Given the description of an element on the screen output the (x, y) to click on. 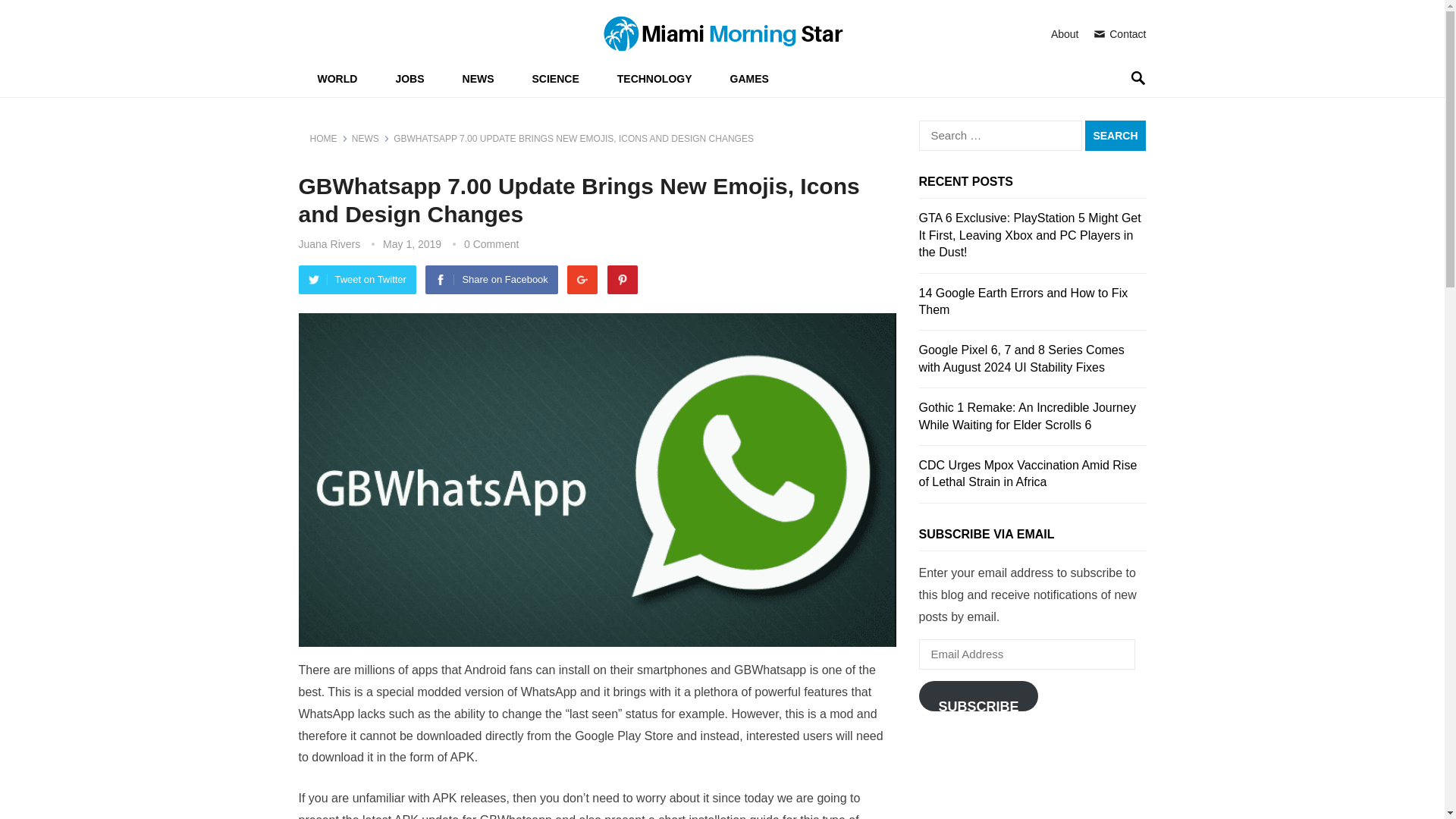
SCIENCE (555, 78)
NEWS (371, 138)
Posts by Juana Rivers (329, 244)
WORLD (337, 78)
Juana Rivers (329, 244)
Search (1114, 135)
NEWS (478, 78)
Tweet on Twitter (357, 279)
HOME (327, 138)
TECHNOLOGY (654, 78)
